Given the description of an element on the screen output the (x, y) to click on. 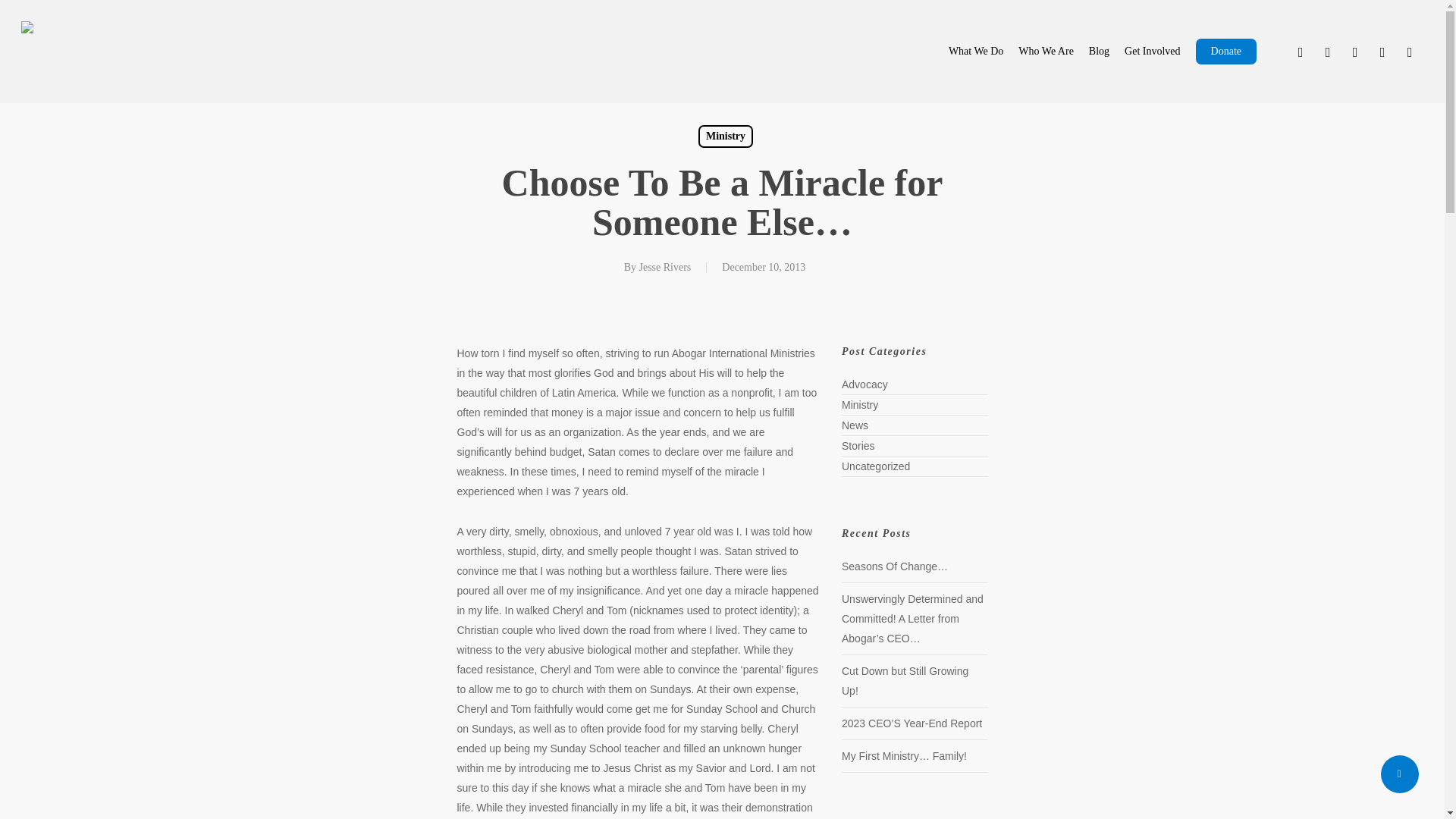
twitter (1300, 51)
Advocacy (1063, 378)
email (1409, 51)
Posts by Jesse Rivers (660, 259)
Get Involved (1136, 51)
News (1063, 423)
Jesse Rivers (660, 259)
linkedin (1354, 51)
facebook (1327, 51)
Uncategorized (1063, 469)
